Given the description of an element on the screen output the (x, y) to click on. 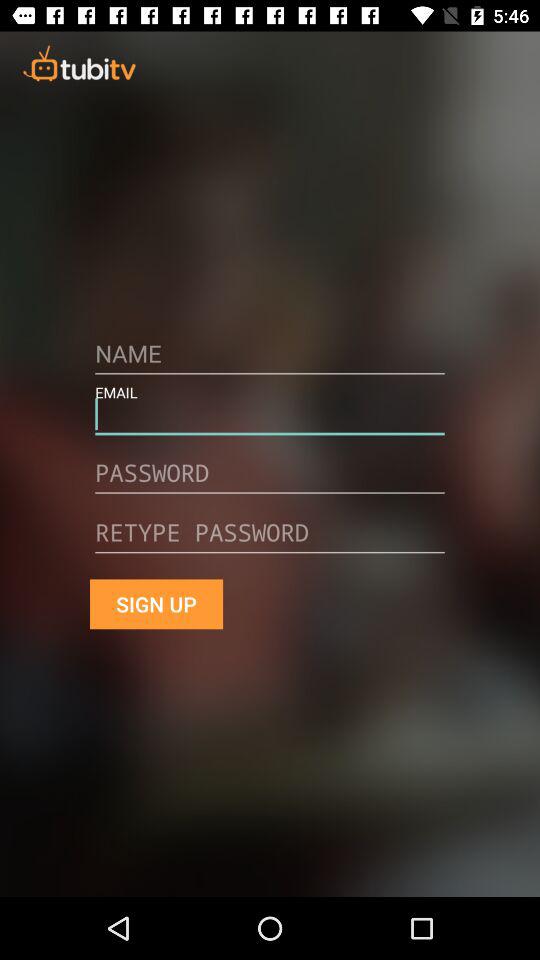
mail address (270, 540)
